Given the description of an element on the screen output the (x, y) to click on. 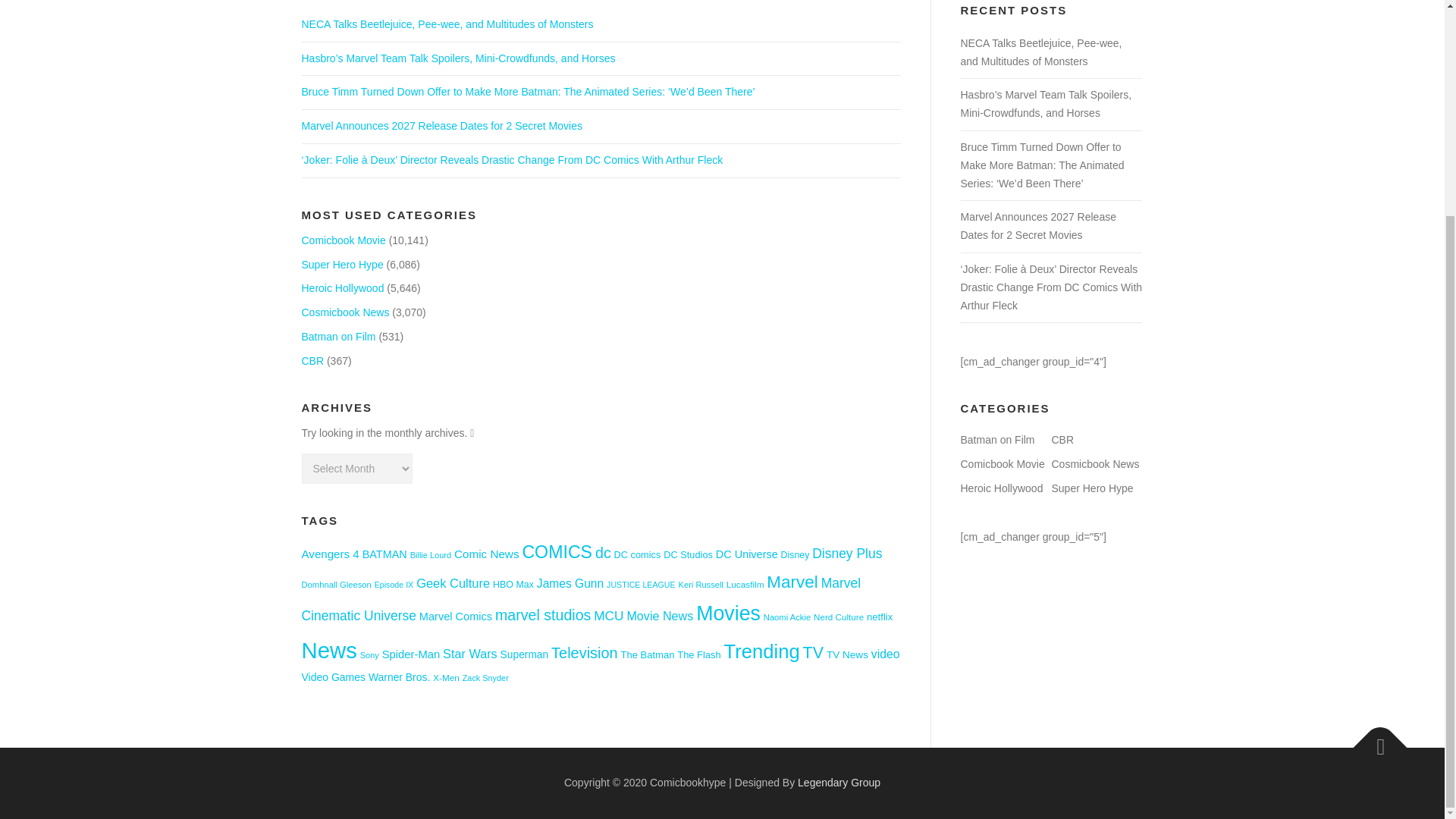
Marvel Announces 2027 Release Dates for 2 Secret Movies (441, 125)
NECA Talks Beetlejuice, Pee-wee, and Multitudes of Monsters (447, 24)
JUSTICE LEAGUE (641, 583)
James Gunn (570, 583)
Heroic Hollywood (342, 287)
Super Hero Hype (342, 264)
Disney Plus (847, 553)
Comicbook Movie (343, 240)
Cosmicbook News (345, 312)
Keri Russell (700, 583)
DC Universe (746, 553)
Batman on Film (338, 336)
Geek Culture (452, 582)
Domhnall Gleeson (336, 583)
CBR (312, 360)
